Given the description of an element on the screen output the (x, y) to click on. 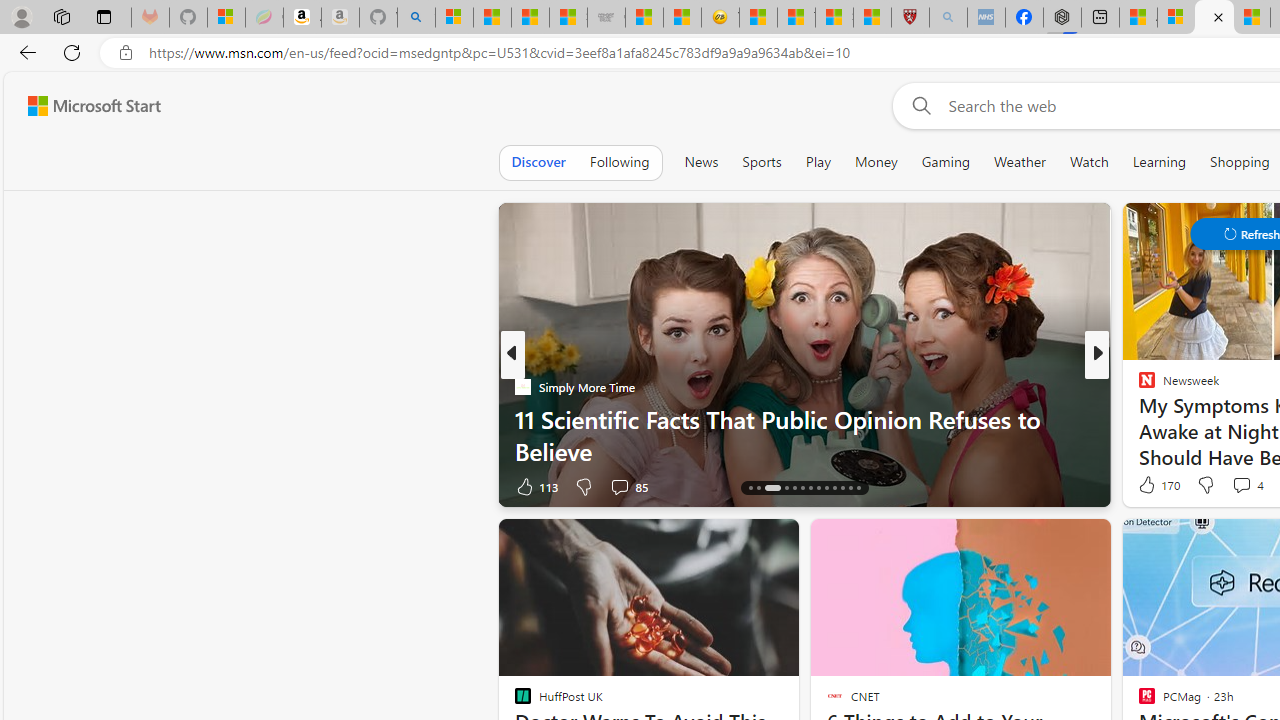
Stacker (1138, 386)
View comments 34 Comment (1244, 486)
170 Like (1157, 484)
720 Like (1151, 486)
View comments 18 Comment (1244, 486)
236 Like (1151, 486)
View comments 231 Comment (1240, 486)
636 Like (1151, 486)
